Given the description of an element on the screen output the (x, y) to click on. 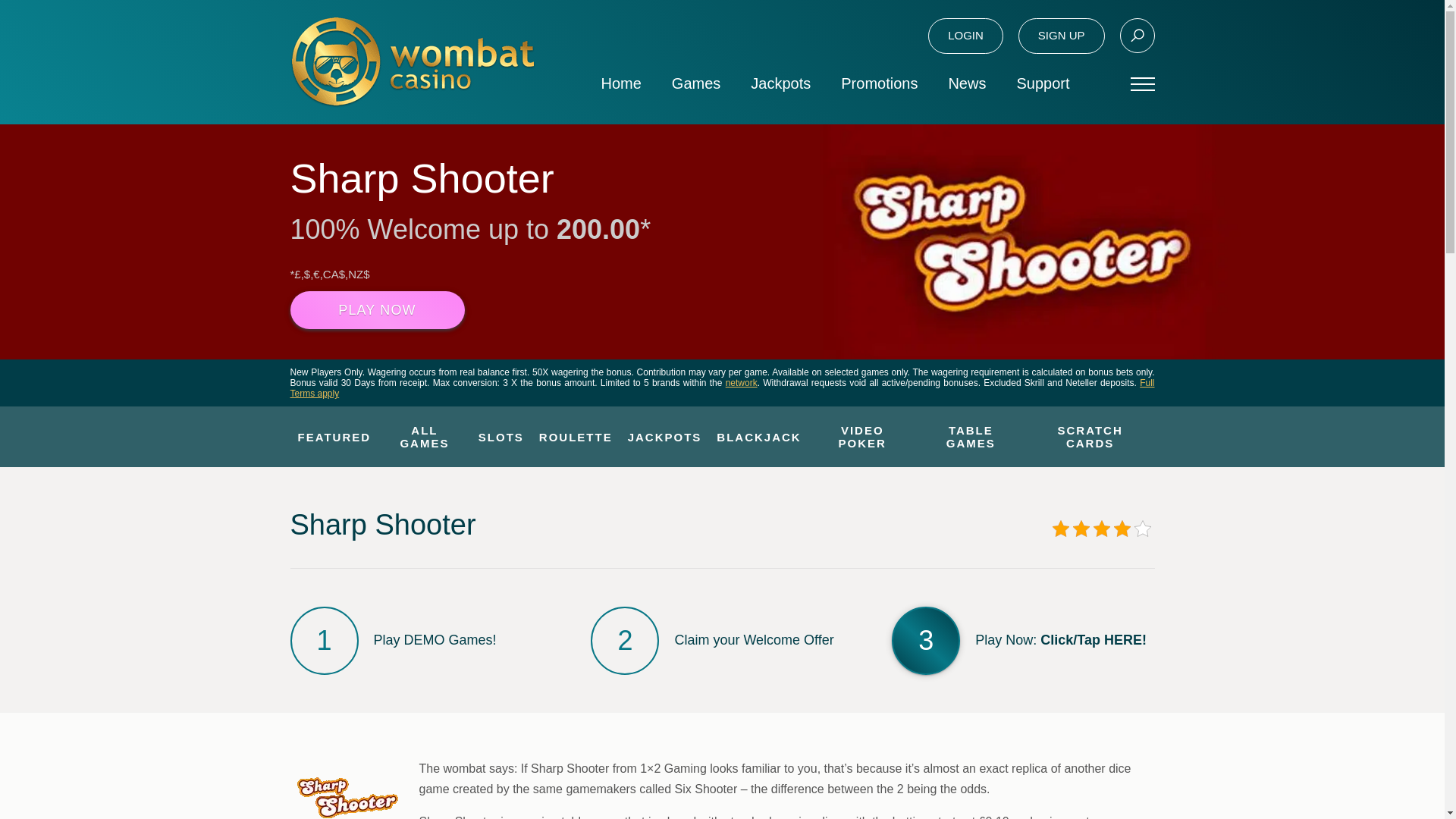
Wombat Casino (411, 61)
Search Icon (1136, 35)
SIGN UP (1061, 36)
Wombat Casino (411, 61)
LOGIN (965, 36)
